Given the description of an element on the screen output the (x, y) to click on. 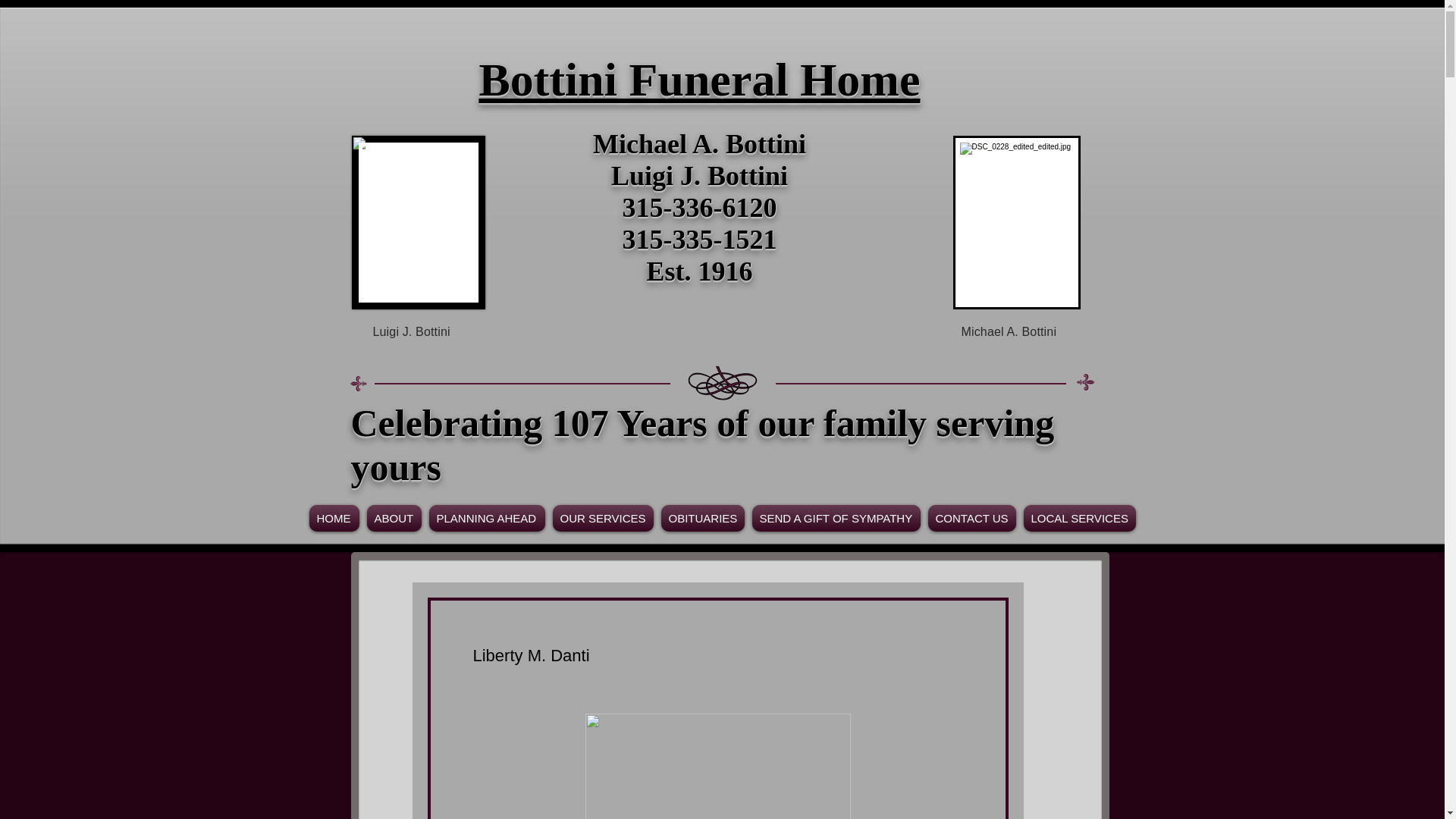
LOCAL SERVICES (1078, 518)
CONTACT US (971, 518)
HOME (333, 518)
PLANNING AHEAD (486, 518)
ABOUT (393, 518)
OBITUARIES (702, 518)
OUR SERVICES (603, 518)
SEND A GIFT OF SYMPATHY (835, 518)
